Given the description of an element on the screen output the (x, y) to click on. 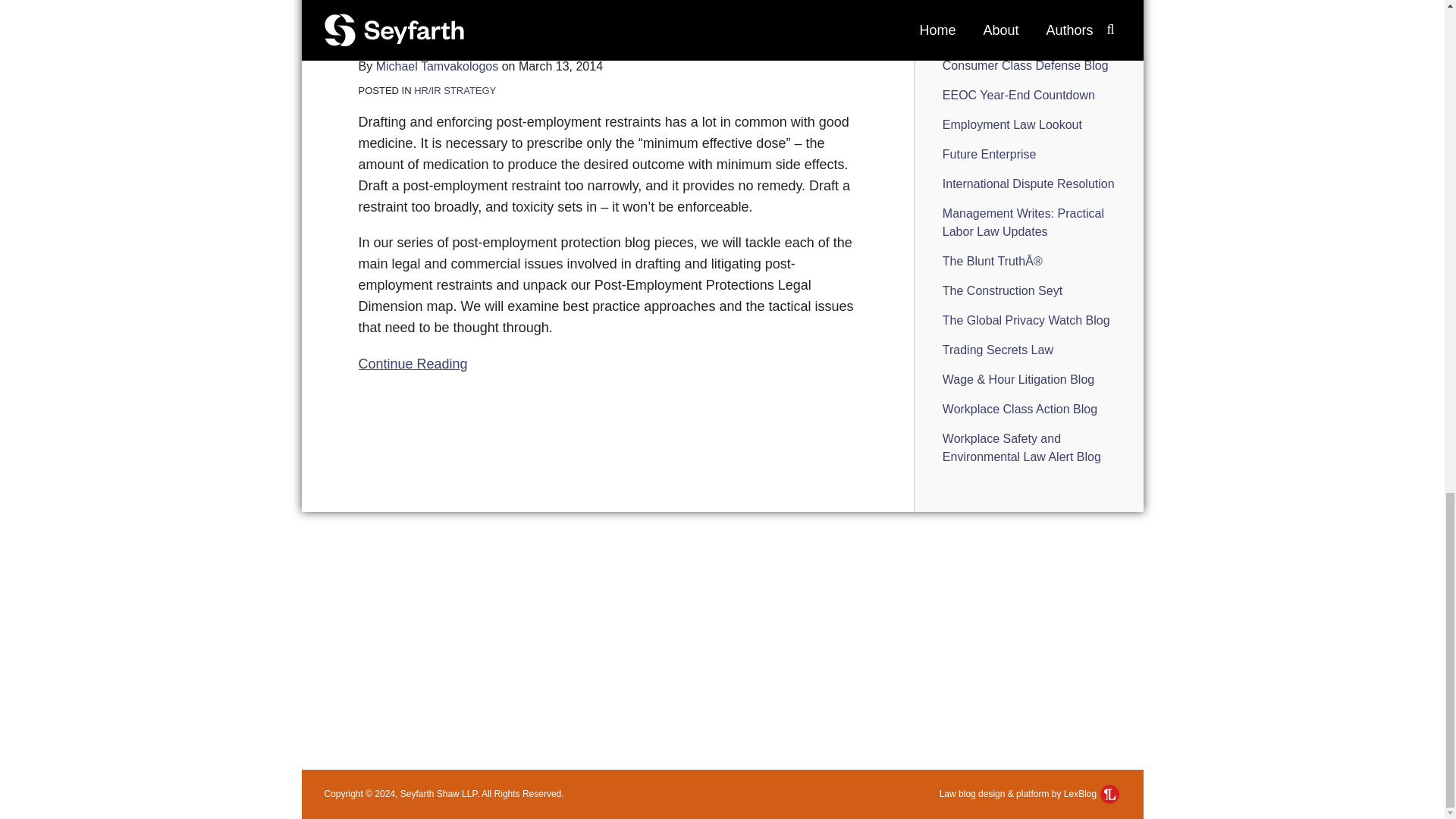
Carpe Datum Law Blog (1004, 35)
Michael Tamvakologos (437, 65)
California Peculiarities Employment Law Blog (1002, 6)
LexBlog Logo (1109, 793)
Consumer Class Defense Blog (1025, 65)
